Given the description of an element on the screen output the (x, y) to click on. 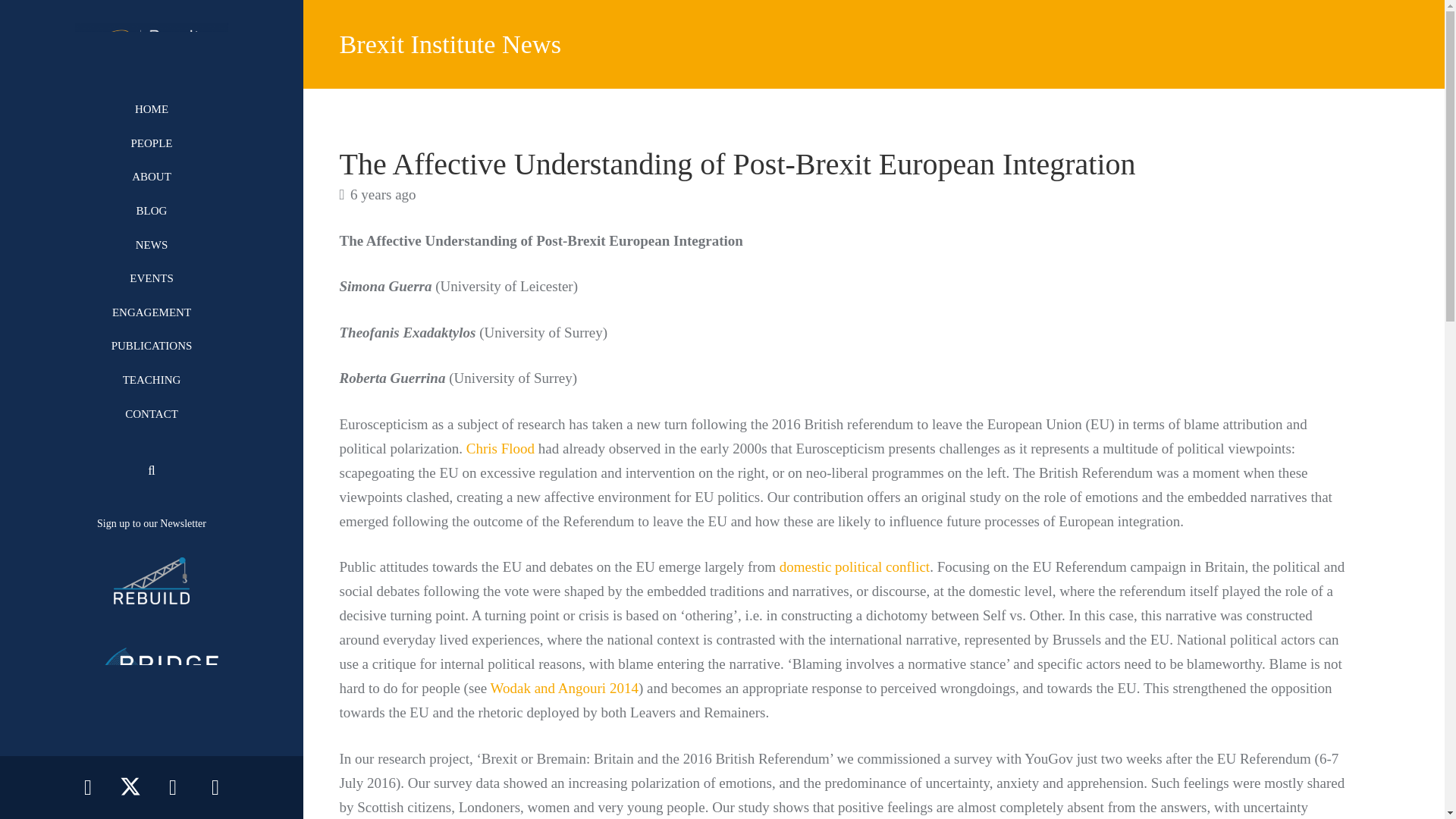
Chris Flood (499, 448)
EVENTS (151, 278)
BLOG (151, 211)
Twitter (130, 787)
PUBLICATIONS (151, 346)
YouTube (172, 787)
PEOPLE (151, 143)
TEACHING (151, 380)
Sign up to our Newsletter (151, 523)
ENGAGEMENT (151, 312)
